Given the description of an element on the screen output the (x, y) to click on. 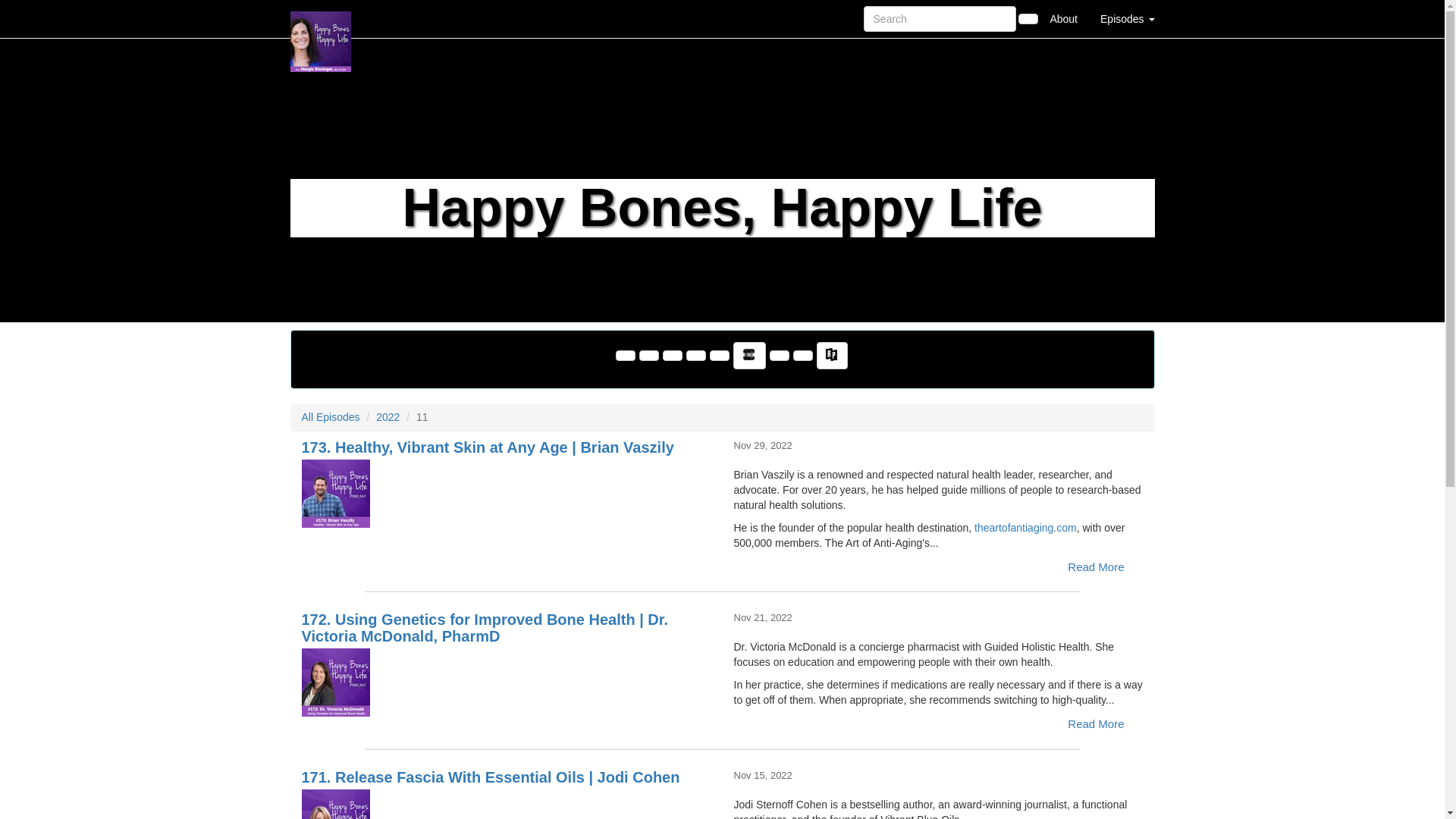
About (1063, 18)
Episodes (1127, 18)
Home Page (320, 18)
